Given the description of an element on the screen output the (x, y) to click on. 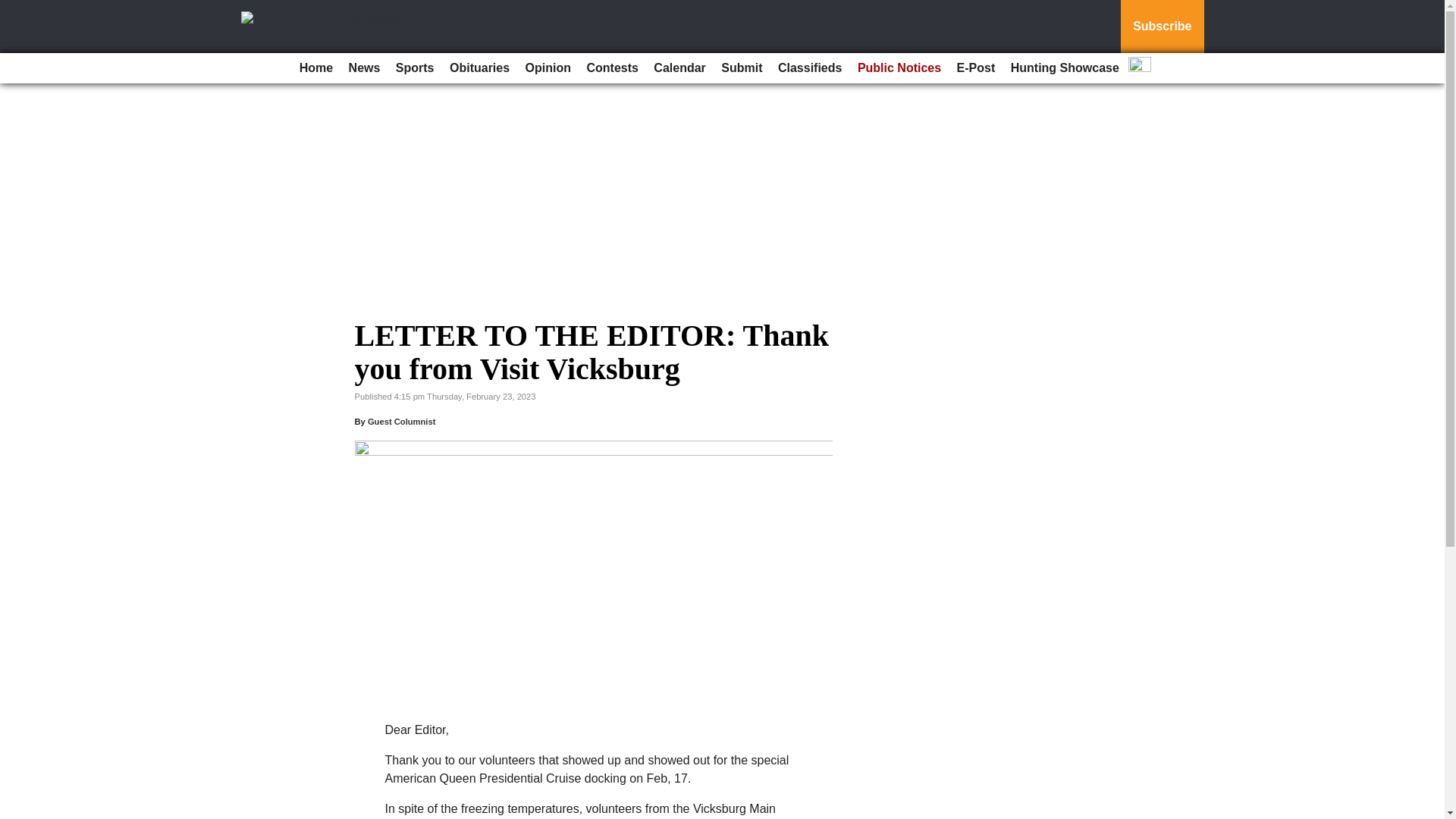
Classifieds (809, 68)
Obituaries (479, 68)
Submit (741, 68)
Contests (611, 68)
Subscribe (1162, 26)
Home (316, 68)
Opinion (547, 68)
E-Post (975, 68)
Hunting Showcase (1064, 68)
Sports (415, 68)
